Given the description of an element on the screen output the (x, y) to click on. 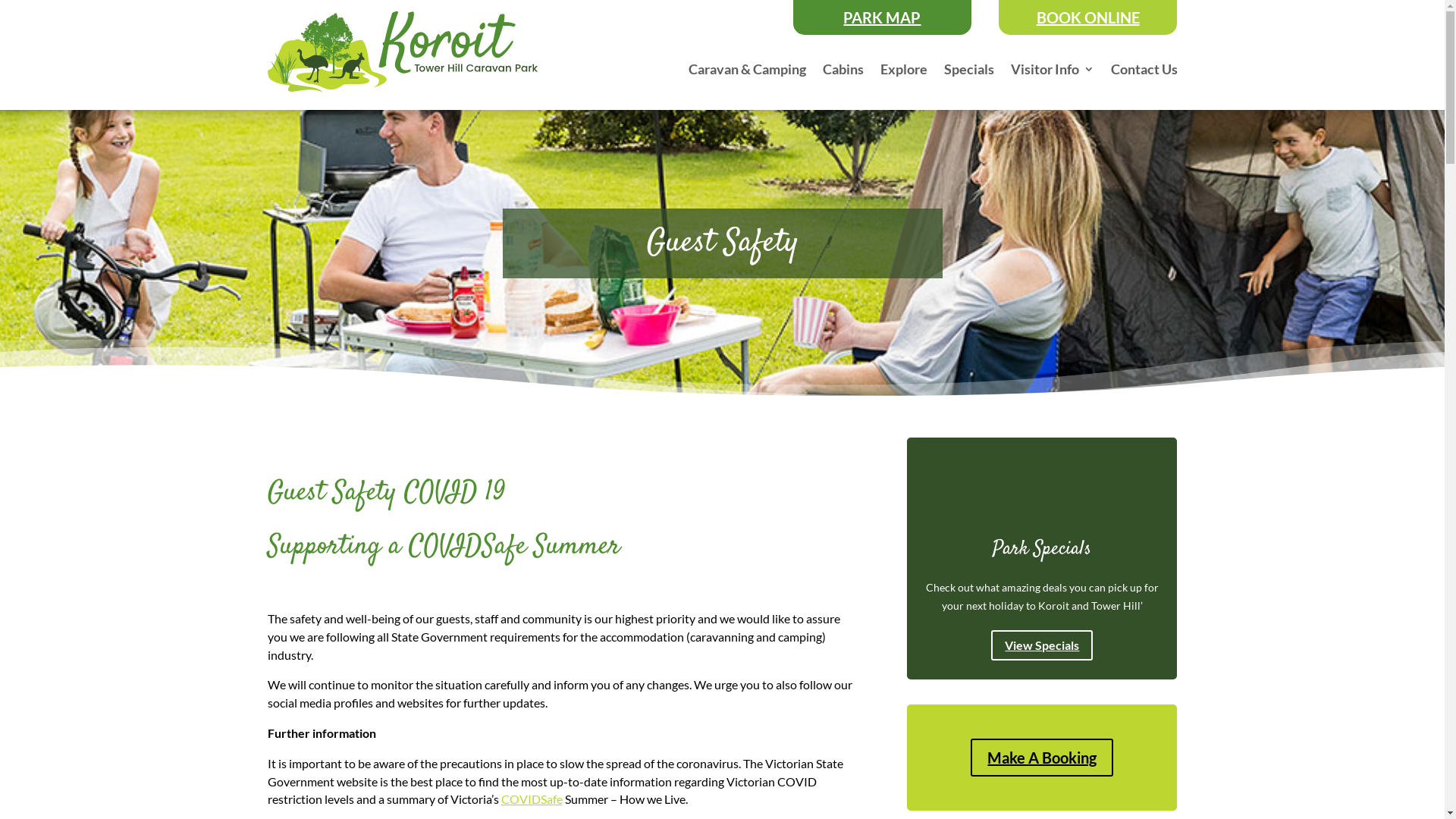
Visitor Info Element type: text (1051, 71)
BOOK ONLINE Element type: text (1087, 17)
Make A Booking Element type: text (1041, 757)
Explore Element type: text (902, 71)
View Specials Element type: text (1041, 645)
COVIDSafe Element type: text (530, 798)
Cabins Element type: text (842, 71)
Specials Element type: text (968, 71)
Caravan & Camping Element type: text (747, 71)
Koroit Logo Element type: hover (401, 54)
PARK MAP Element type: text (882, 17)
Contact Us Element type: text (1143, 71)
